Given the description of an element on the screen output the (x, y) to click on. 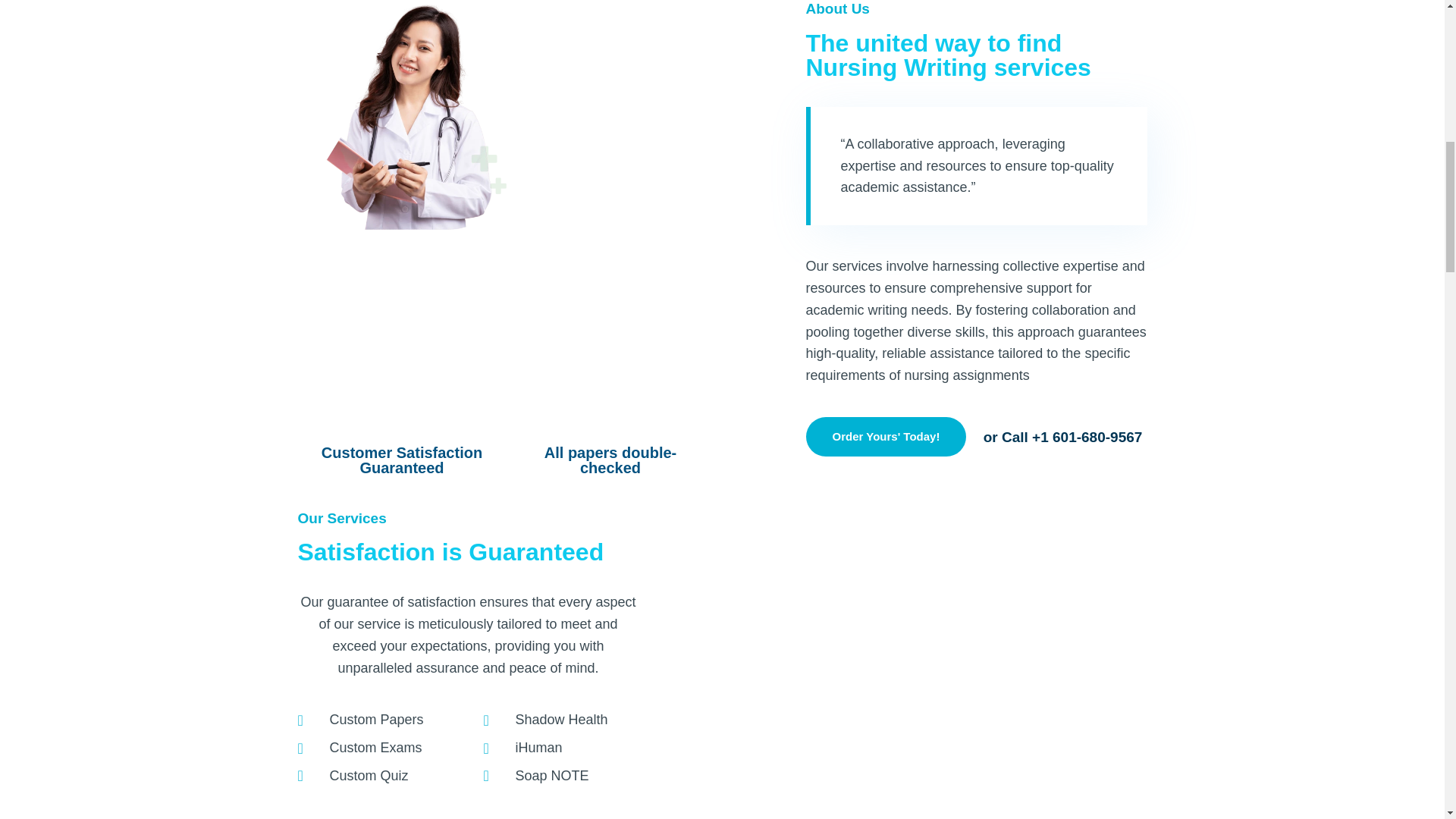
Order Yours' Today! (885, 436)
